Given the description of an element on the screen output the (x, y) to click on. 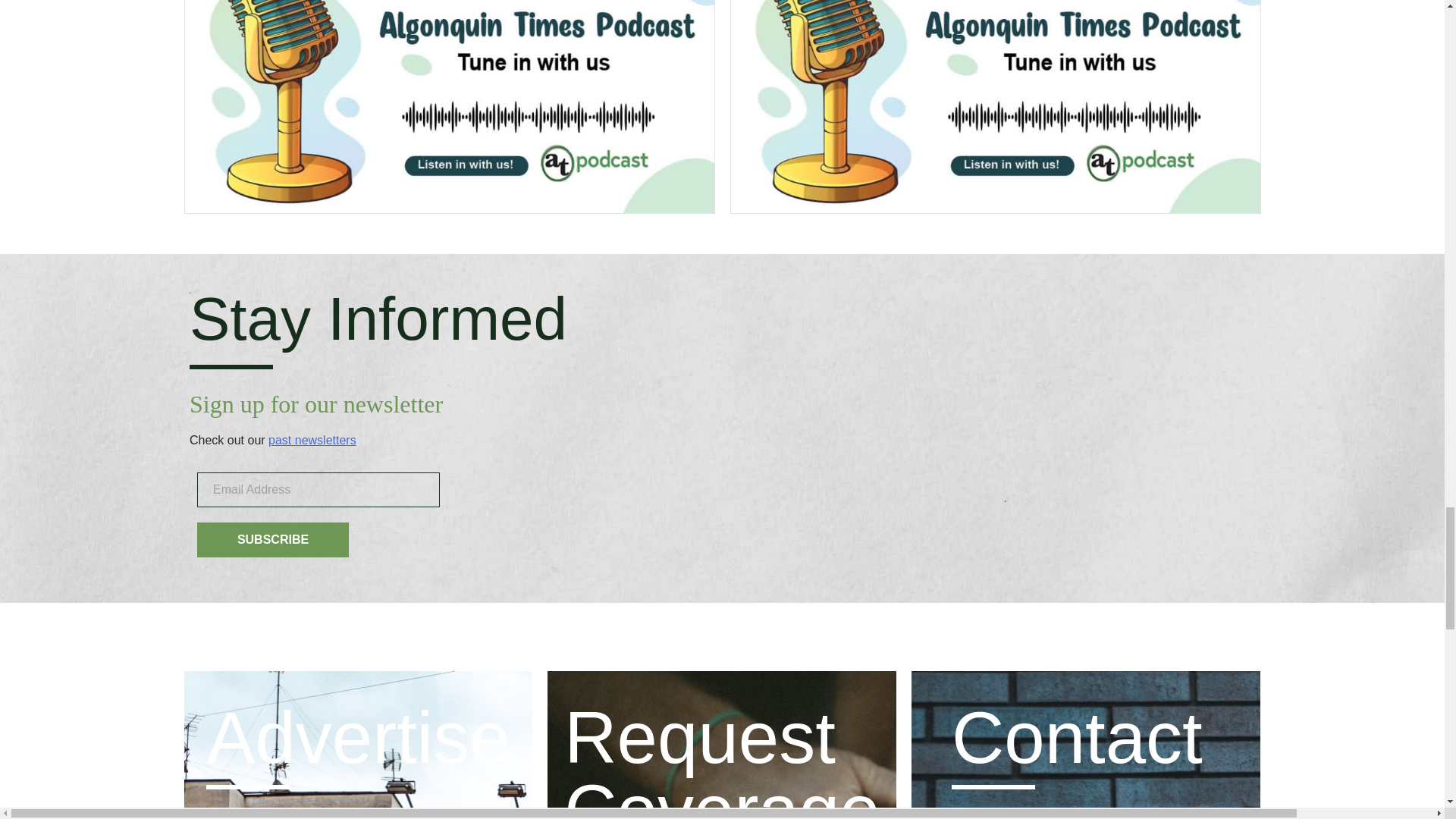
Subscribe (272, 539)
